Given the description of an element on the screen output the (x, y) to click on. 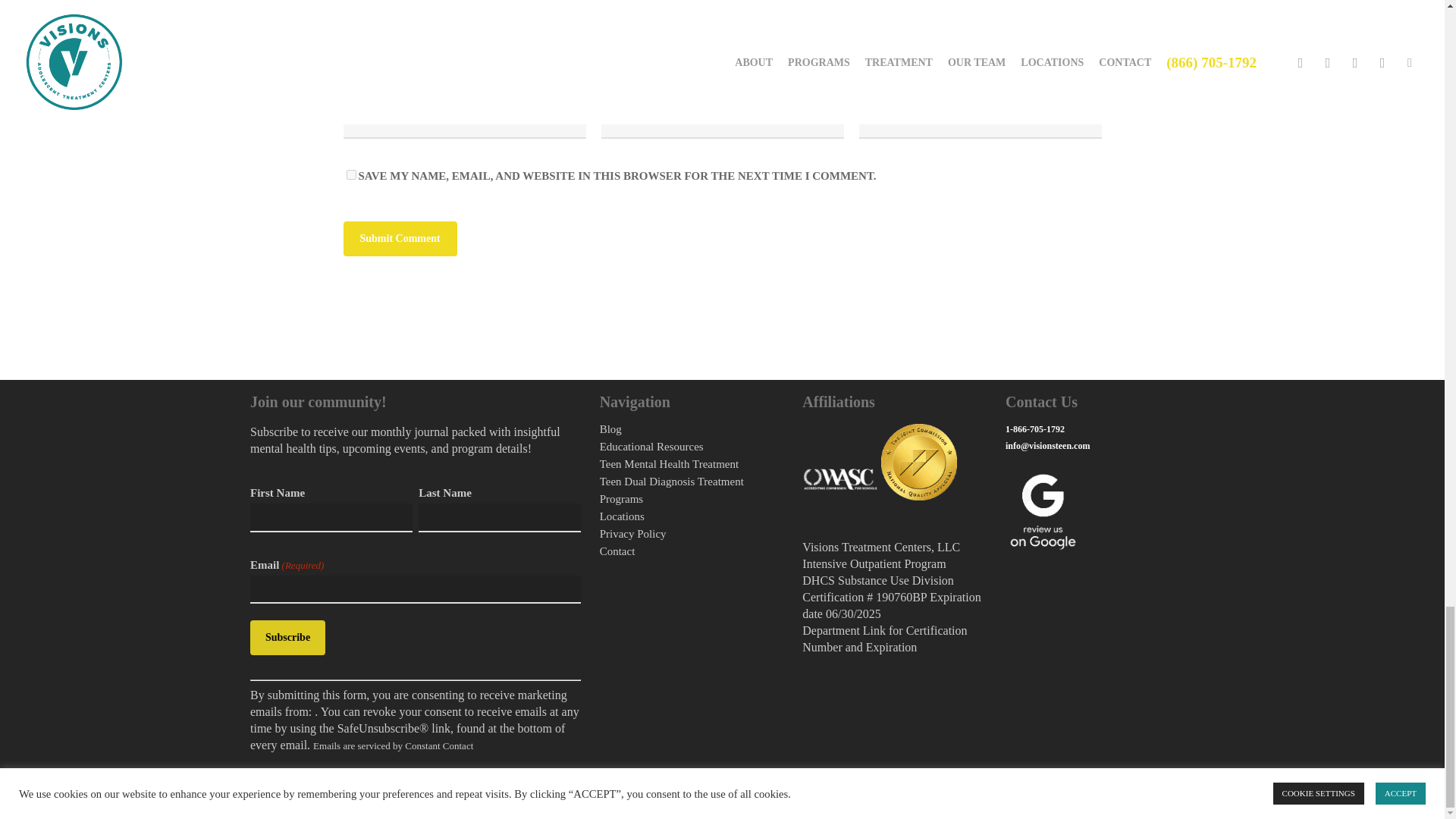
Submit Comment (399, 238)
yes (350, 174)
Subscribe (287, 637)
